Given the description of an element on the screen output the (x, y) to click on. 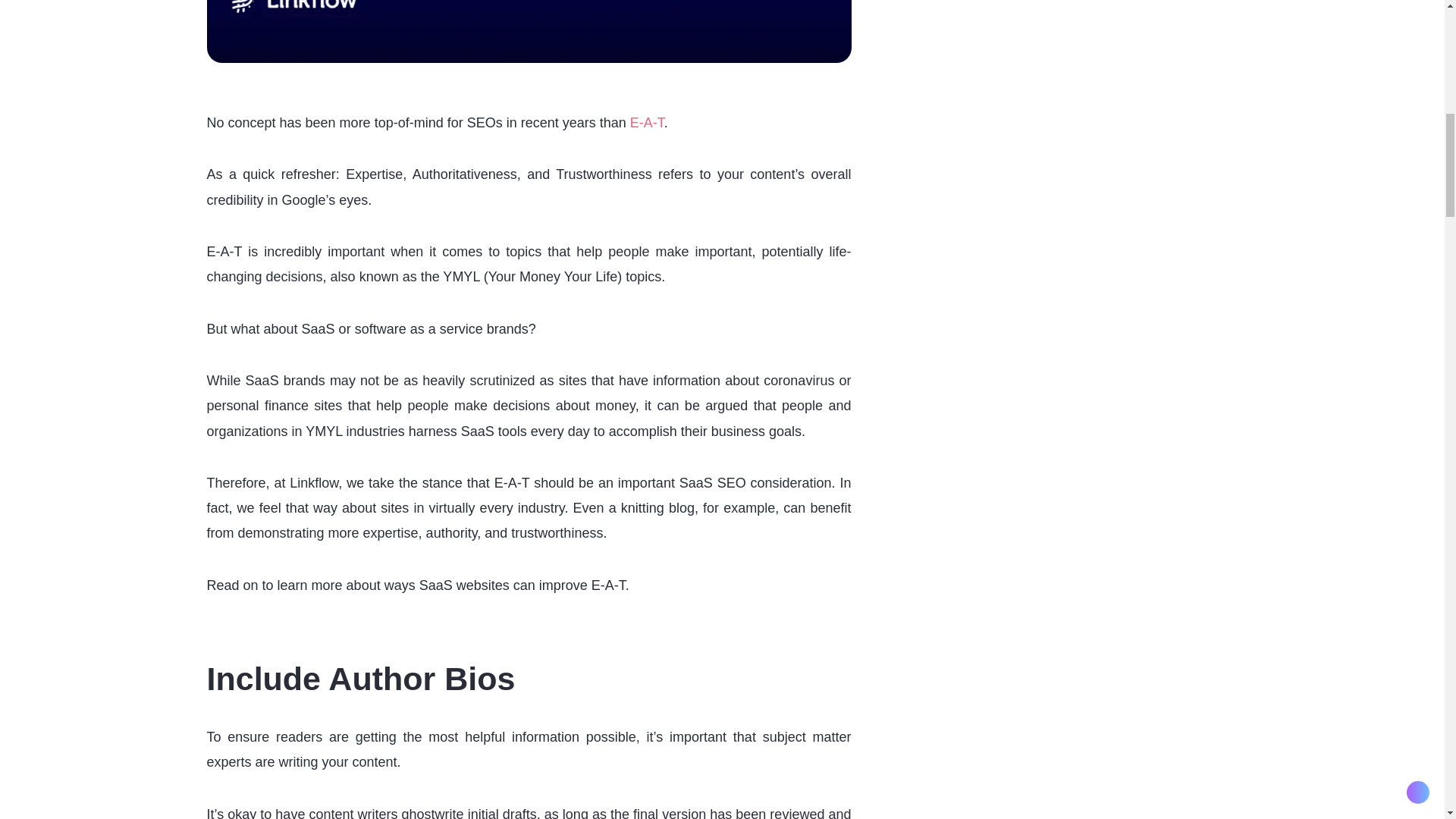
E-A-T (646, 122)
